Given the description of an element on the screen output the (x, y) to click on. 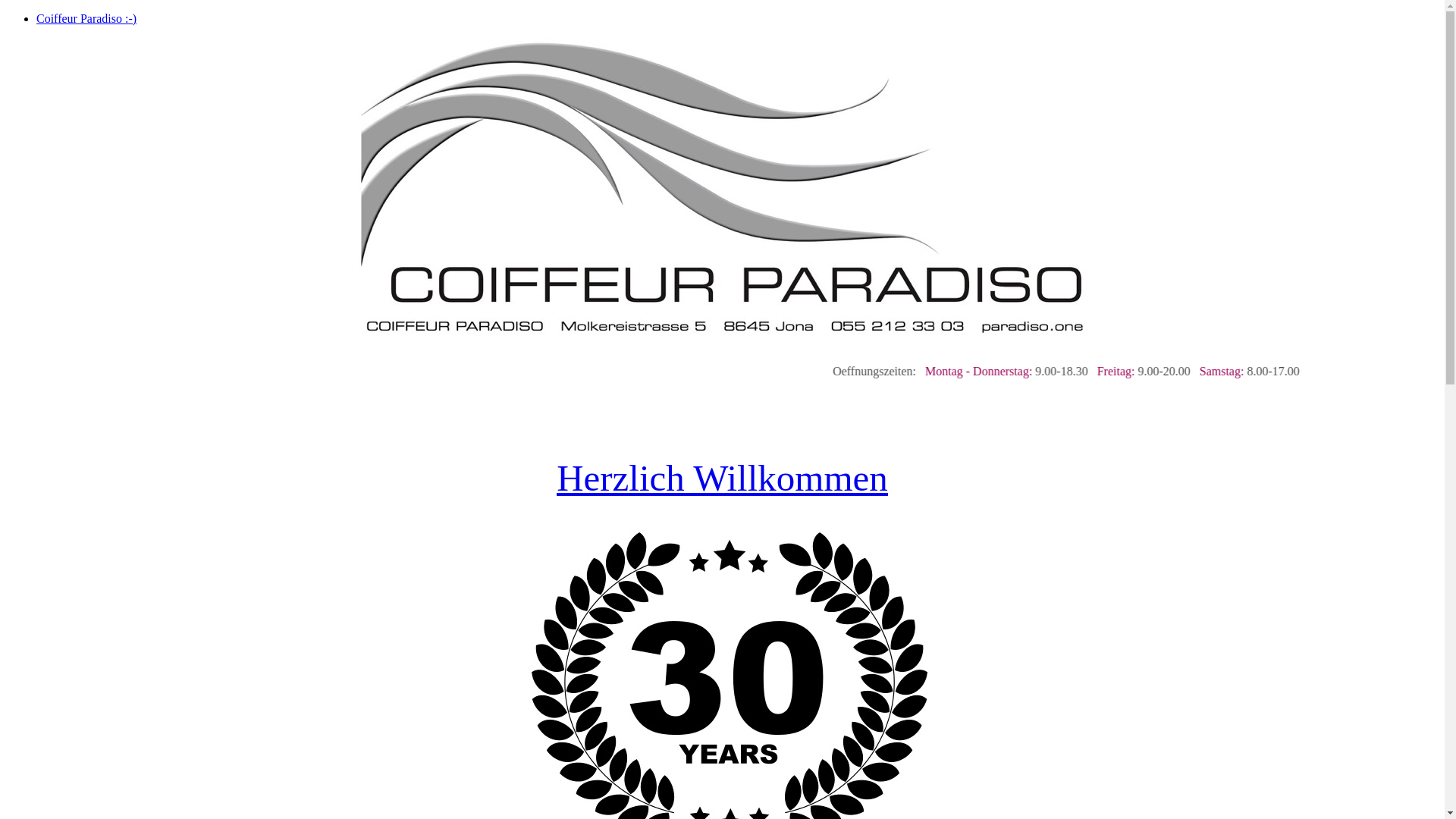
Coiffeur Paradiso :-) Element type: text (86, 18)
Herzlich Willkommen Element type: text (722, 477)
